Given the description of an element on the screen output the (x, y) to click on. 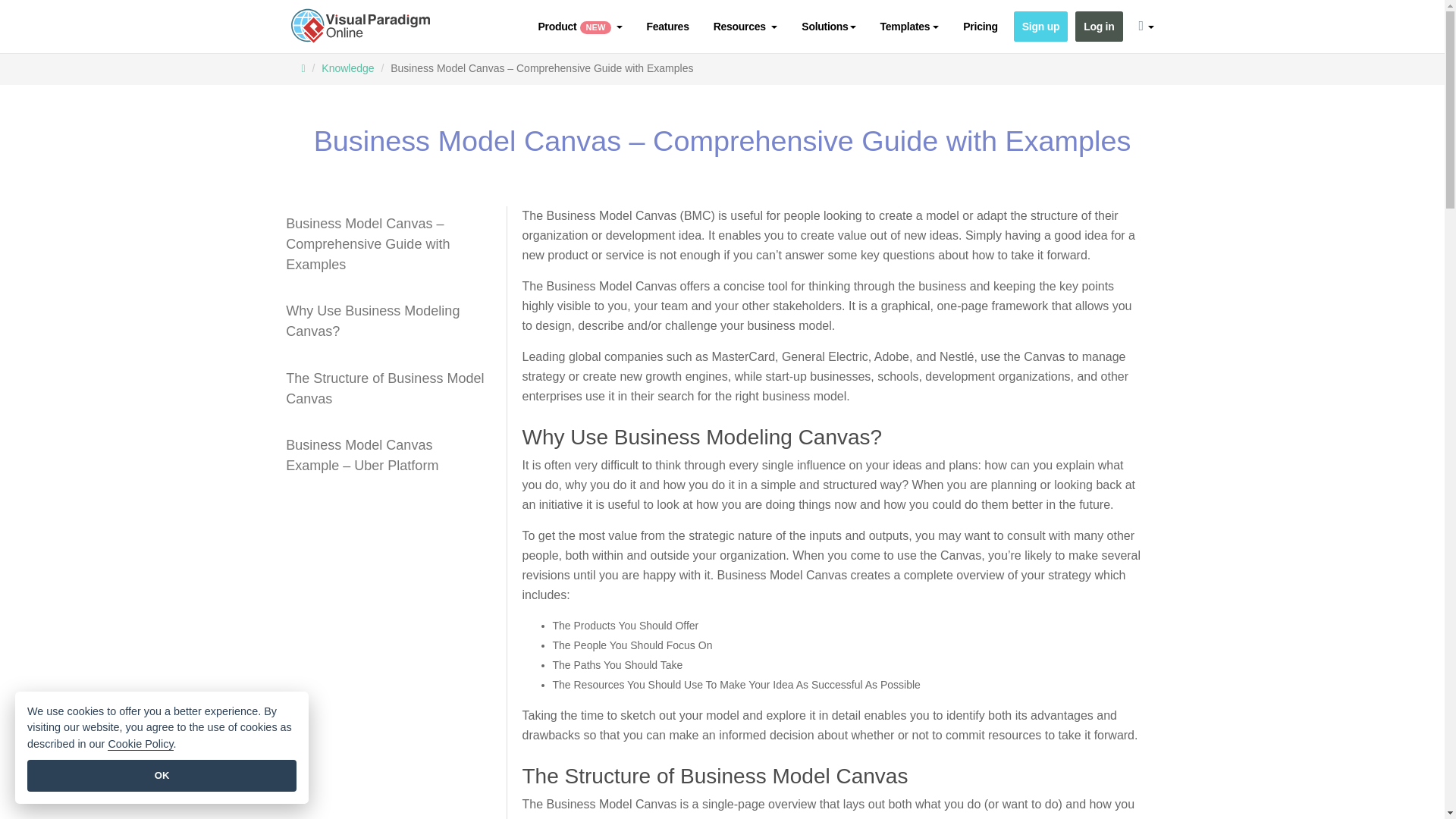
Resources (745, 26)
Why Use Business Modeling Canvas? (387, 321)
The Structure of Business Model Canvas (387, 388)
Solutions (828, 26)
Features (668, 26)
ProductNEW (579, 26)
